Given the description of an element on the screen output the (x, y) to click on. 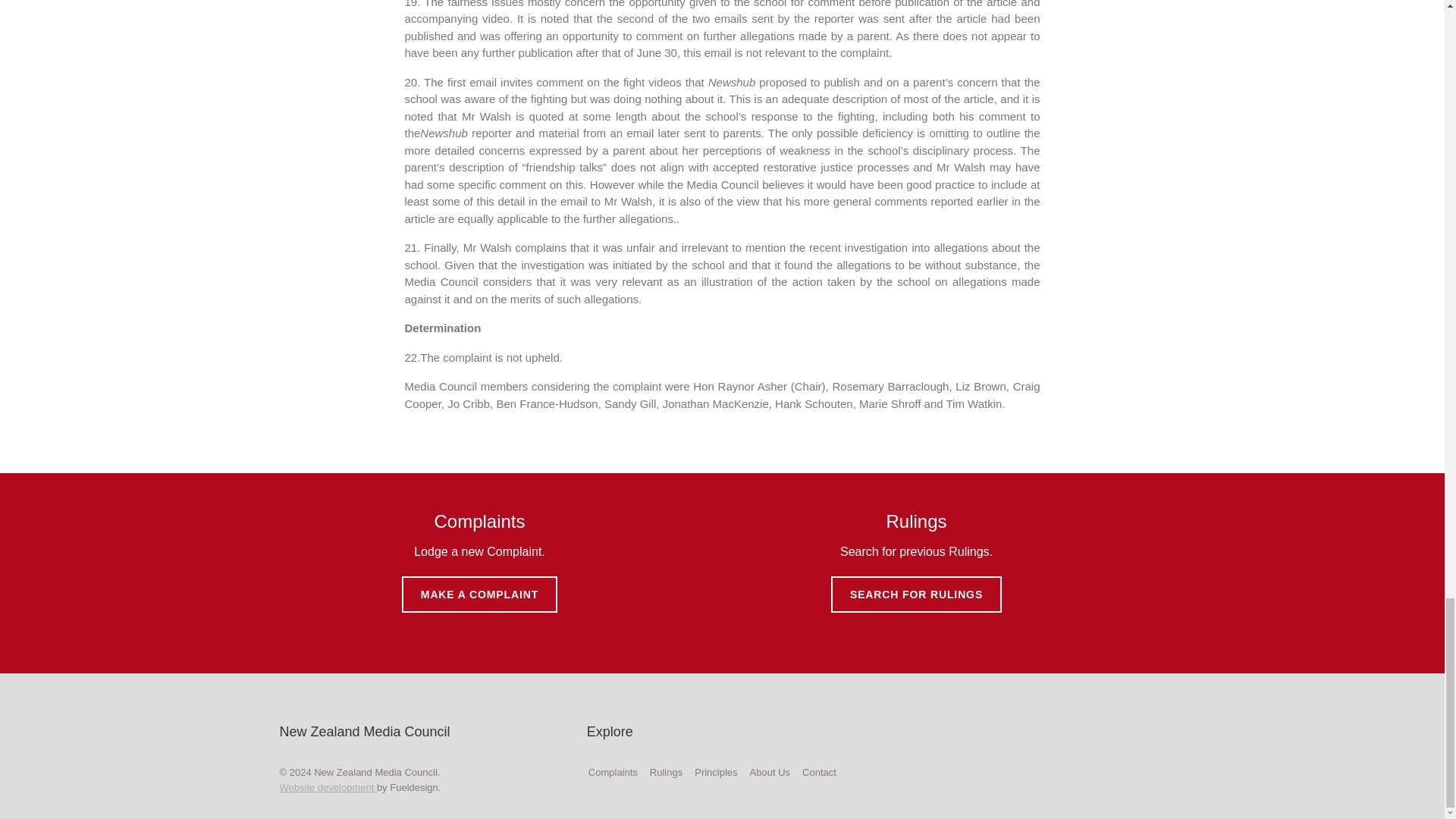
Auckland website design (327, 787)
Principles (715, 772)
The Standards We Apply (715, 772)
Rulings (665, 772)
Website development (327, 787)
About Us (769, 772)
About Press Council (769, 772)
Contact (818, 772)
Complaints (612, 772)
Lodge a Complaint (612, 772)
MAKE A COMPLAINT (479, 594)
SEARCH FOR RULINGS (916, 594)
Contact Press Council (818, 772)
Search for Rulings (665, 772)
